Given the description of an element on the screen output the (x, y) to click on. 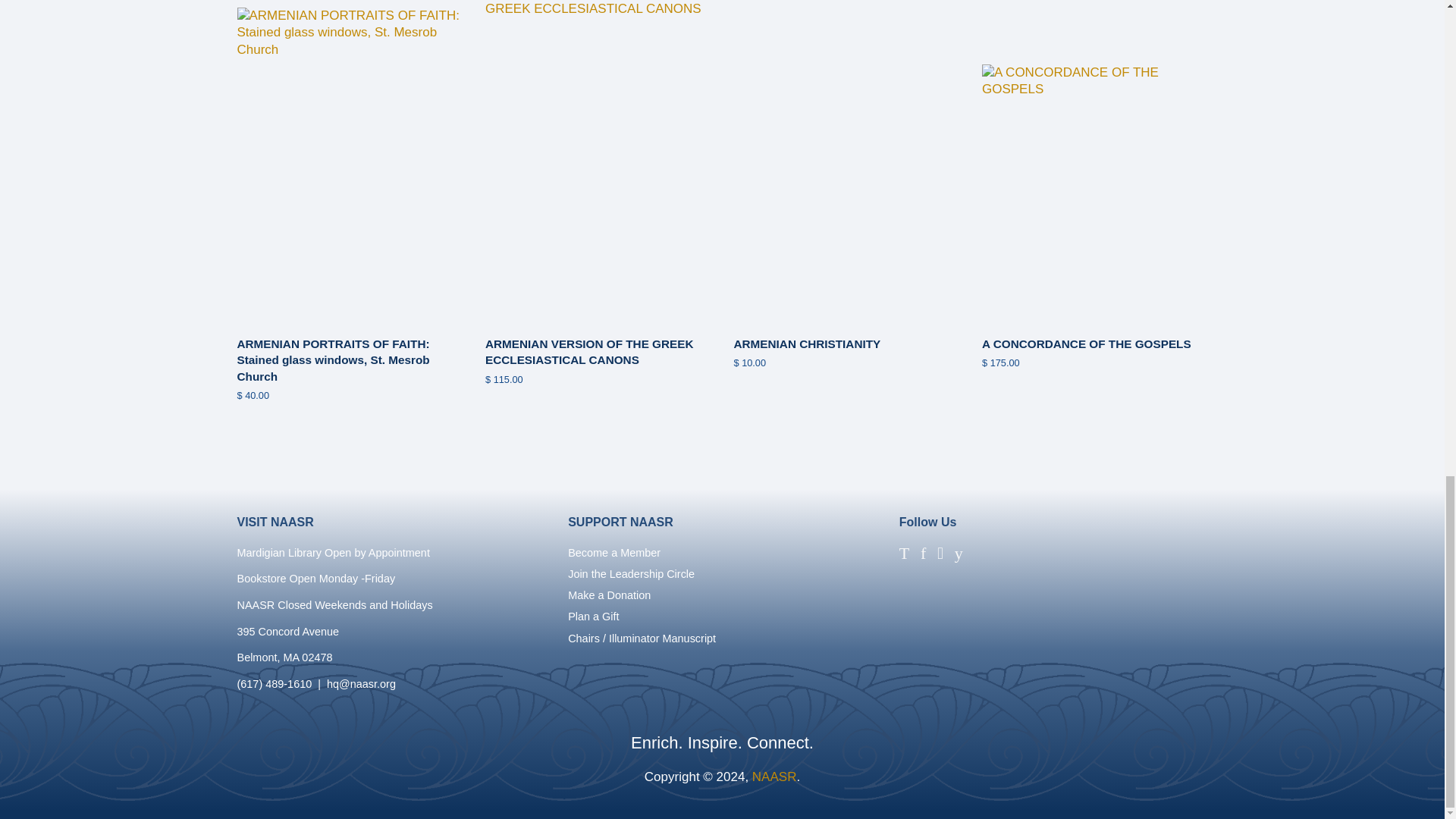
NAASR on LinkedIn (982, 556)
